Given the description of an element on the screen output the (x, y) to click on. 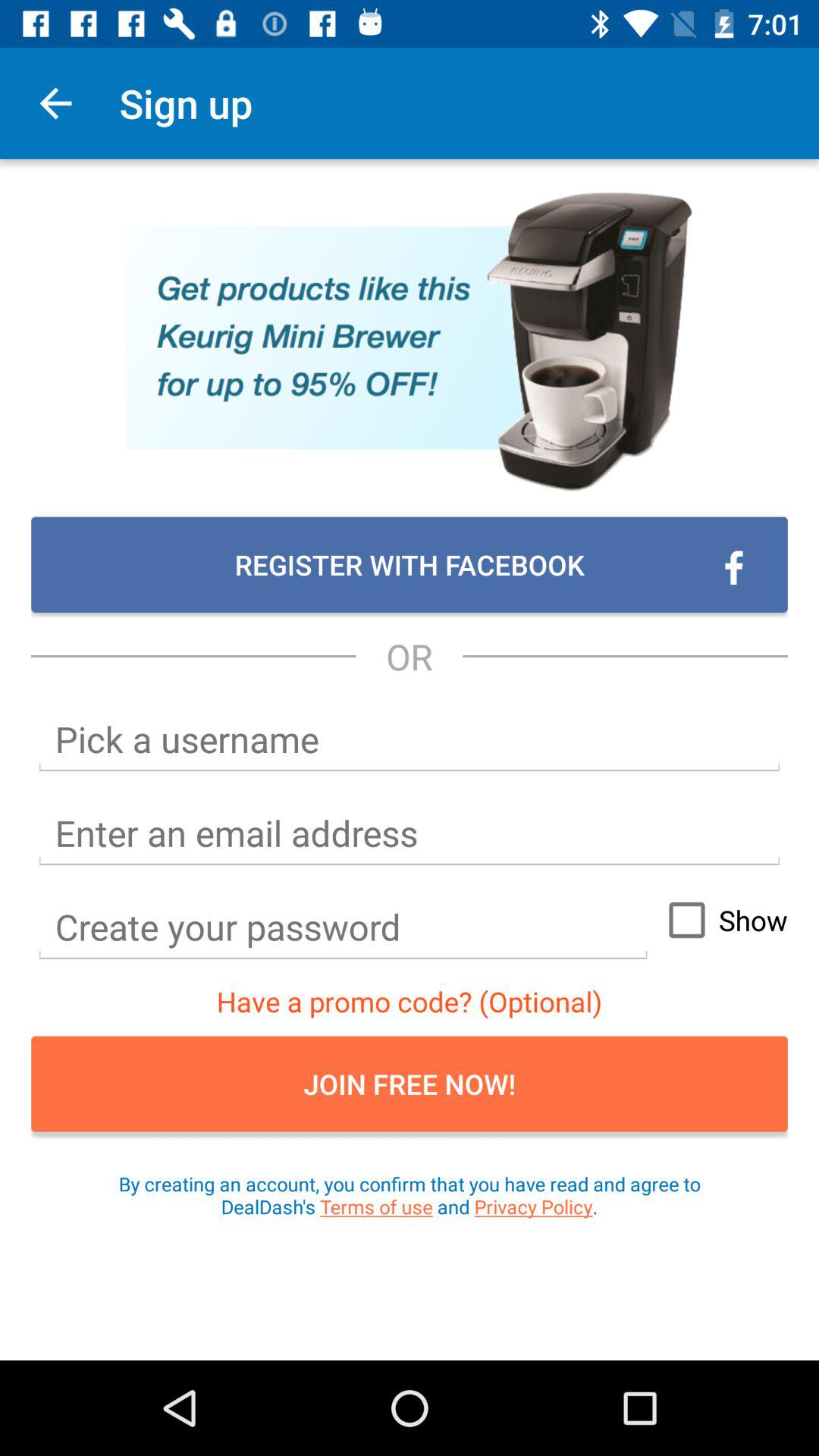
select icon next to the show item (343, 927)
